Given the description of an element on the screen output the (x, y) to click on. 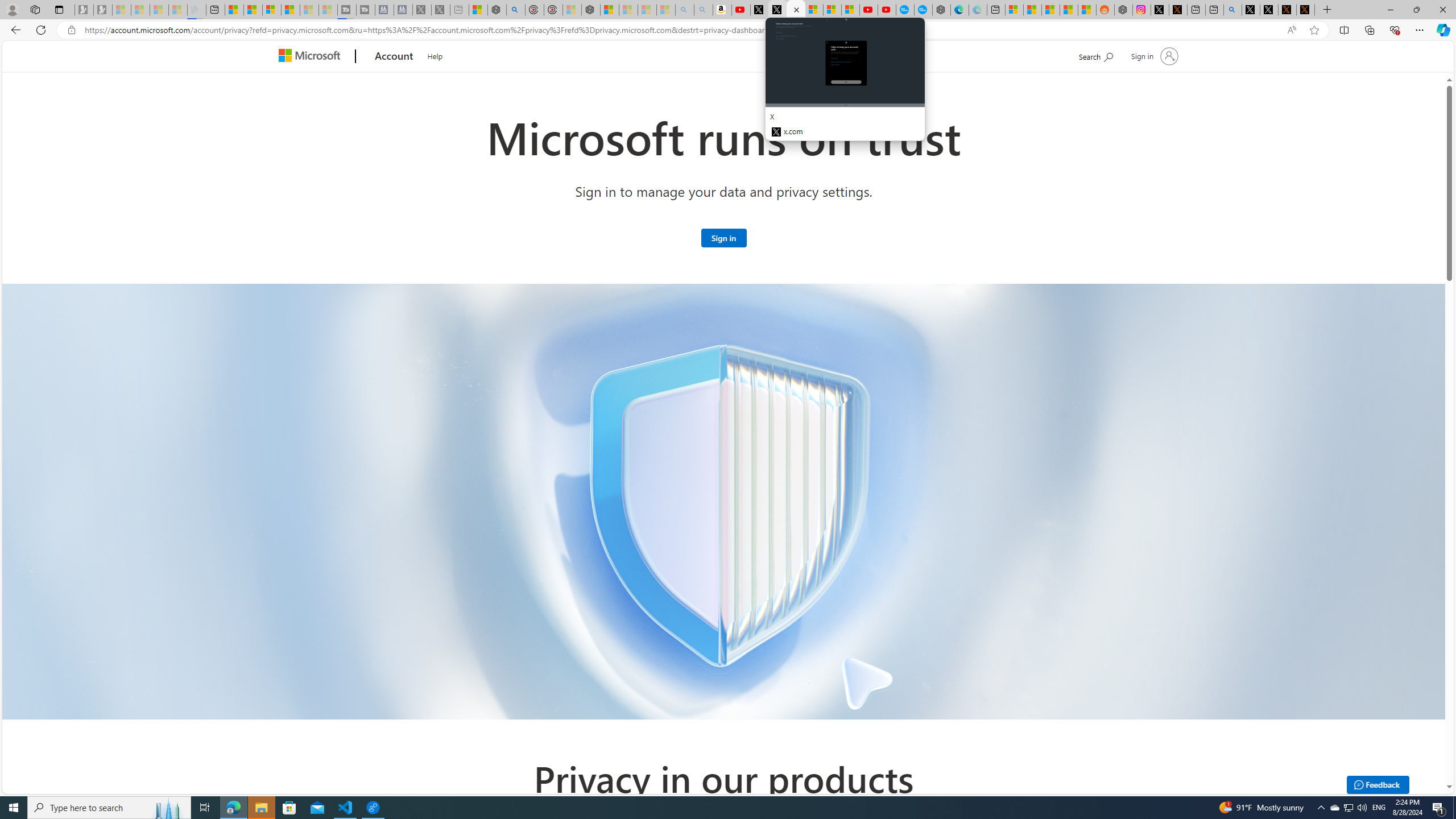
GitHub (@github) / X (1268, 9)
Overview (271, 9)
Profile / X (1251, 9)
Search Microsoft.com (1095, 54)
Nordace - Nordace Siena Is Not An Ordinary Backpack (590, 9)
